Given the description of an element on the screen output the (x, y) to click on. 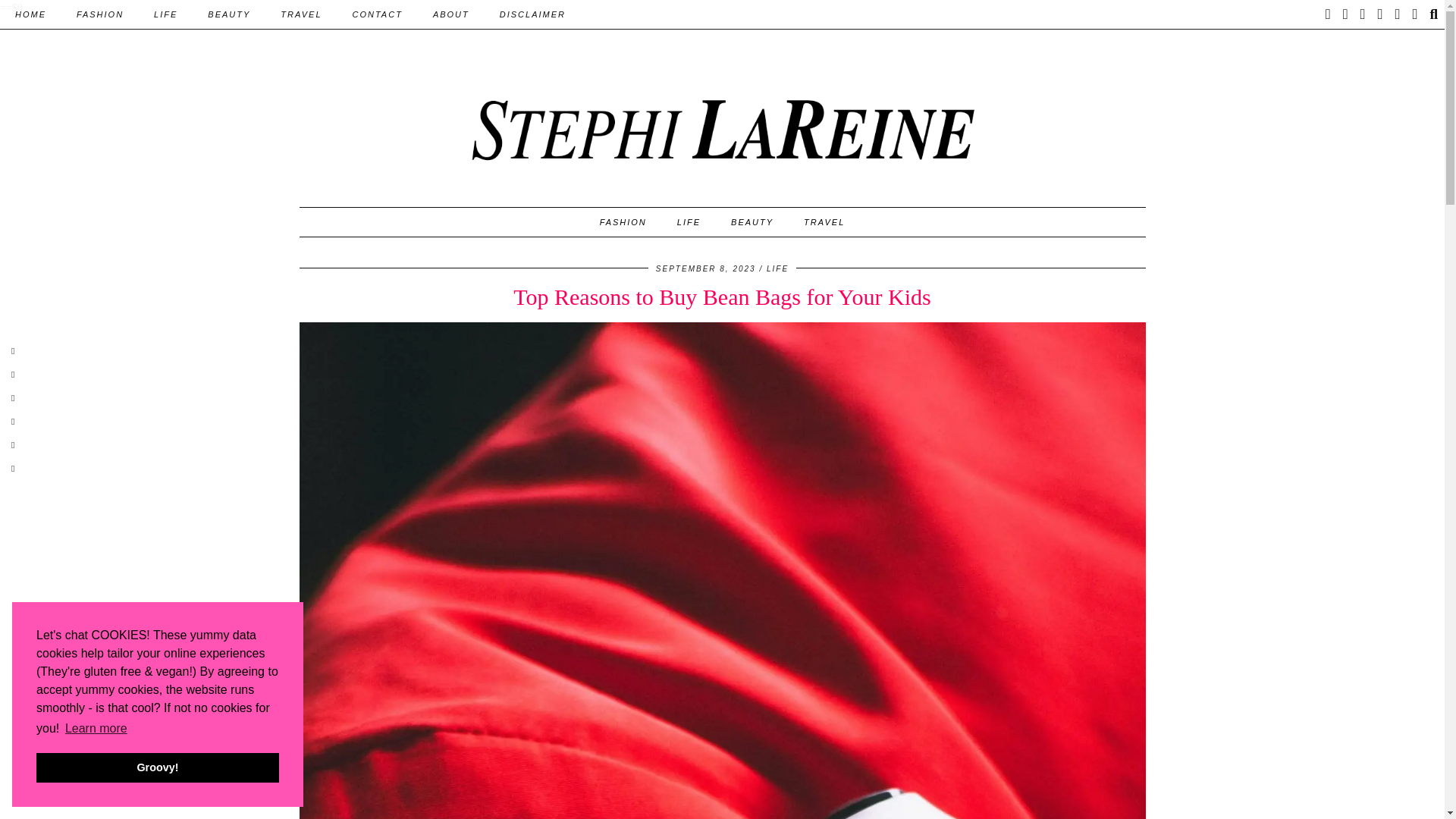
HOME (30, 14)
Groovy! (157, 767)
Learn more (95, 728)
LIFE (165, 14)
BEAUTY (228, 14)
FASHION (99, 14)
